Given the description of an element on the screen output the (x, y) to click on. 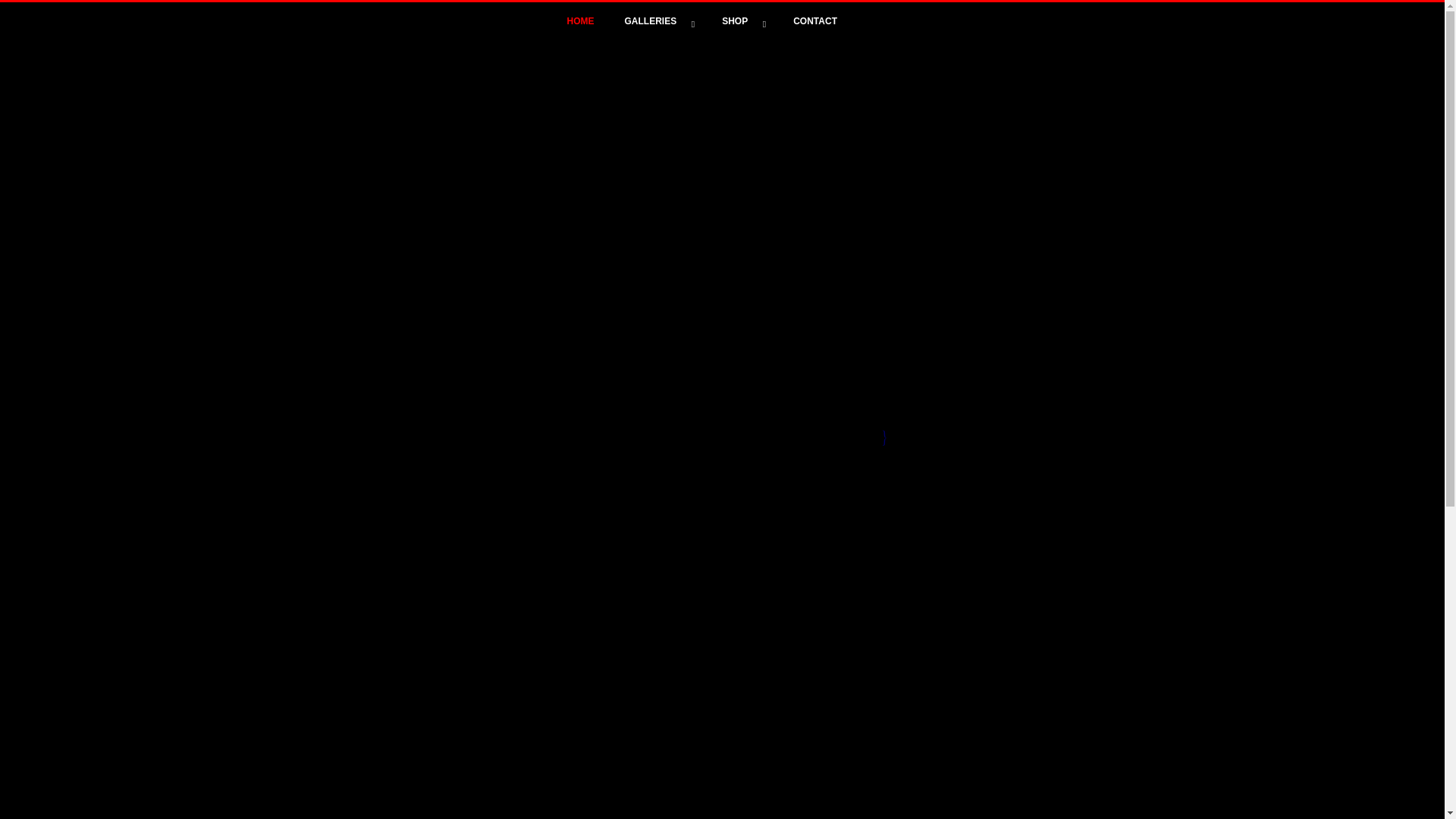
CONTACT Element type: text (815, 21)
HOME Element type: text (580, 21)
GALLERIES Element type: text (658, 21)
SHOP Element type: text (742, 21)
